Given the description of an element on the screen output the (x, y) to click on. 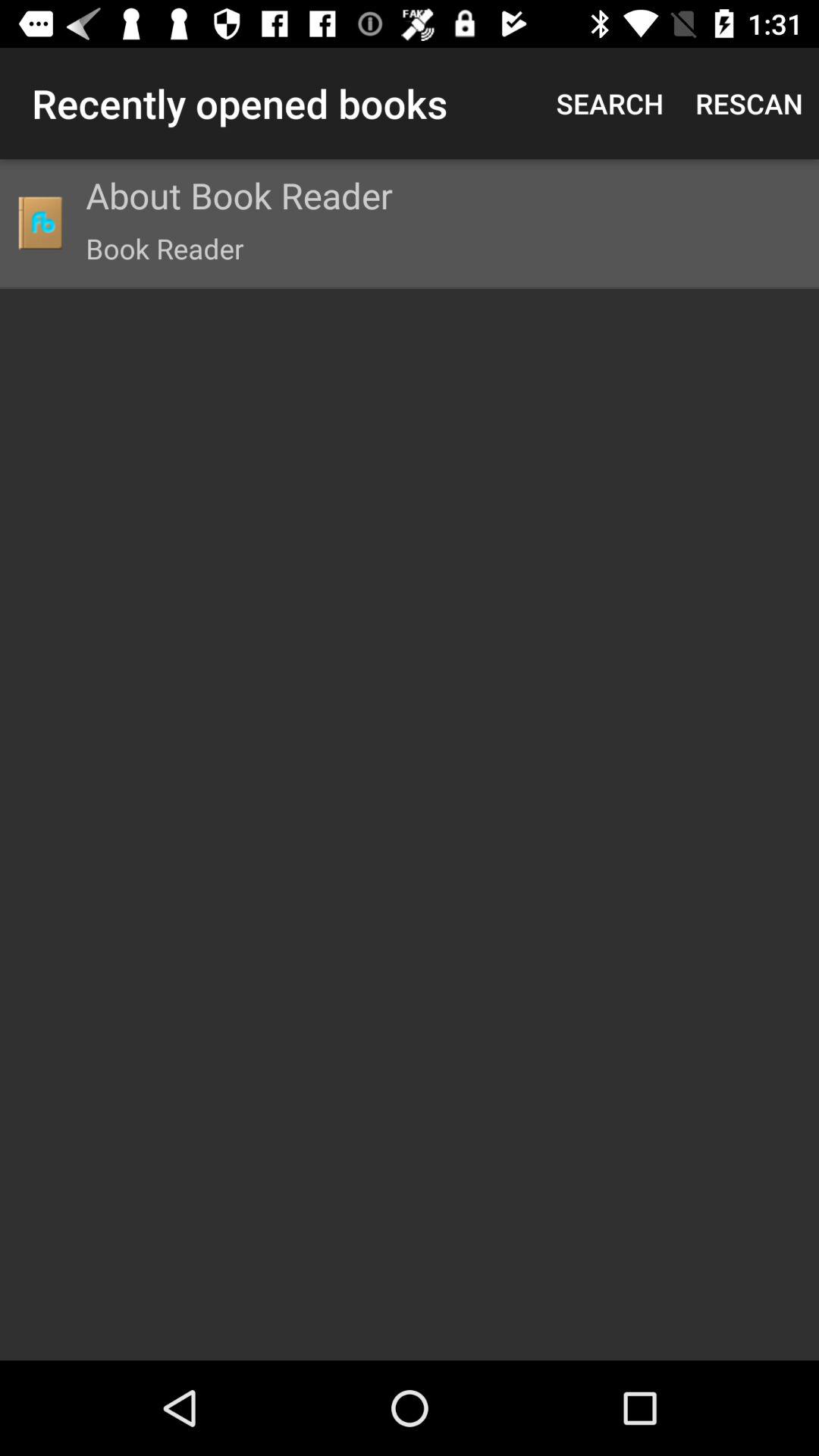
tap icon next to the rescan (609, 103)
